Given the description of an element on the screen output the (x, y) to click on. 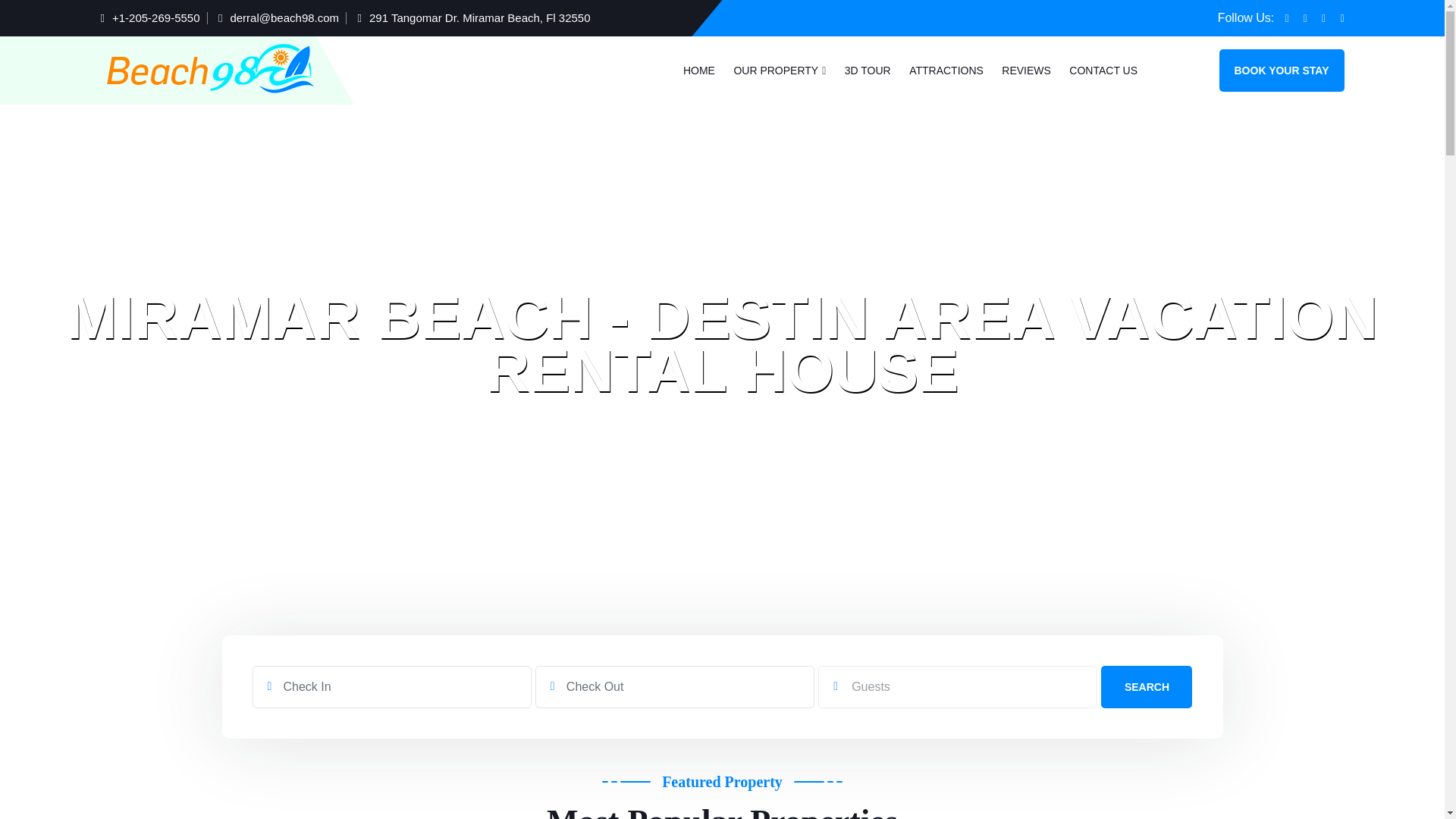
REVIEWS (1026, 70)
3D TOUR (867, 70)
ATTRACTIONS (946, 70)
CONTACT US (1102, 70)
BOOK YOUR STAY (1281, 70)
HOME (698, 70)
OUR PROPERTY (779, 70)
SEARCH (1146, 686)
